Given the description of an element on the screen output the (x, y) to click on. 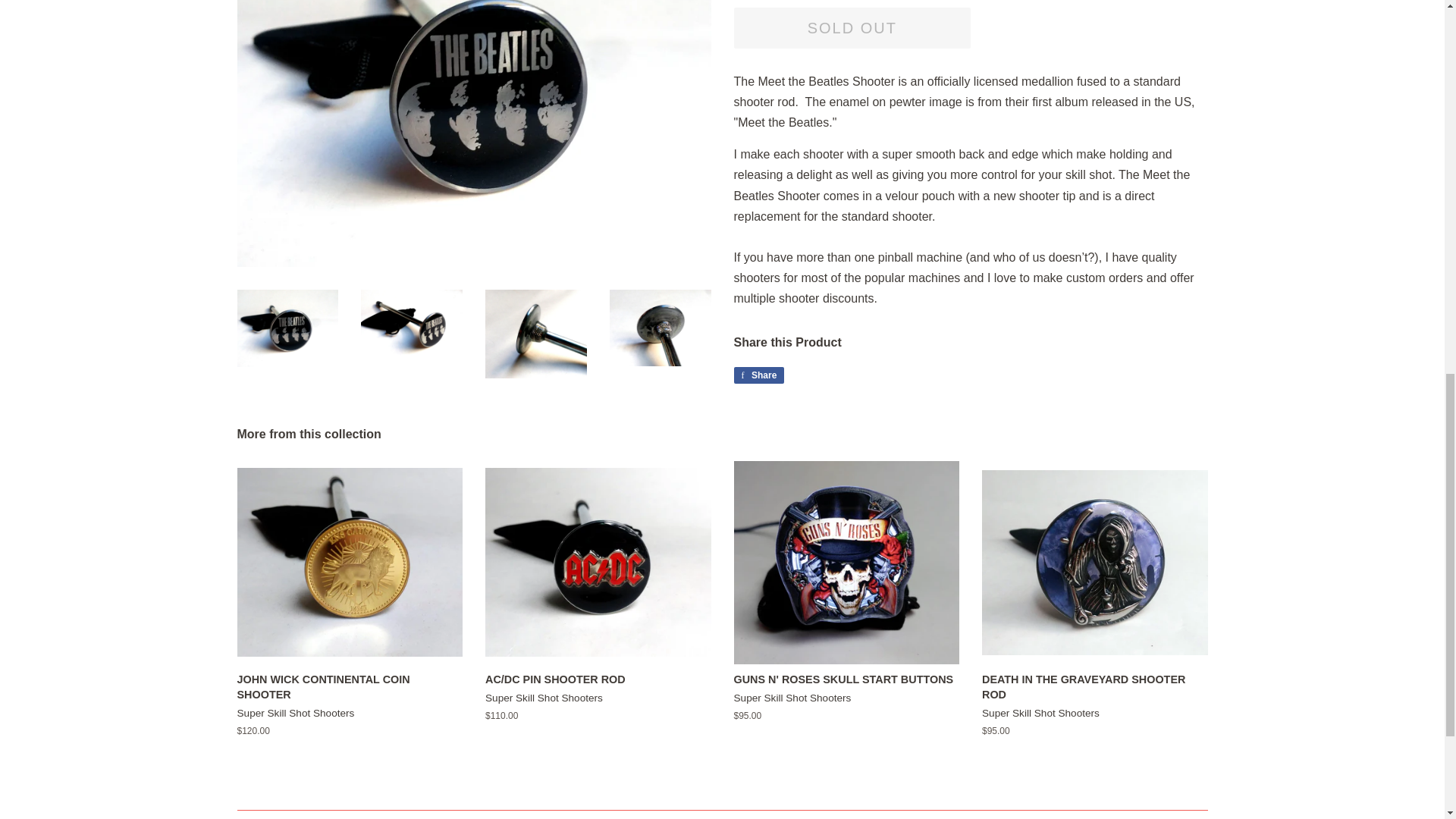
Share on Facebook (758, 375)
SOLD OUT (758, 375)
